Given the description of an element on the screen output the (x, y) to click on. 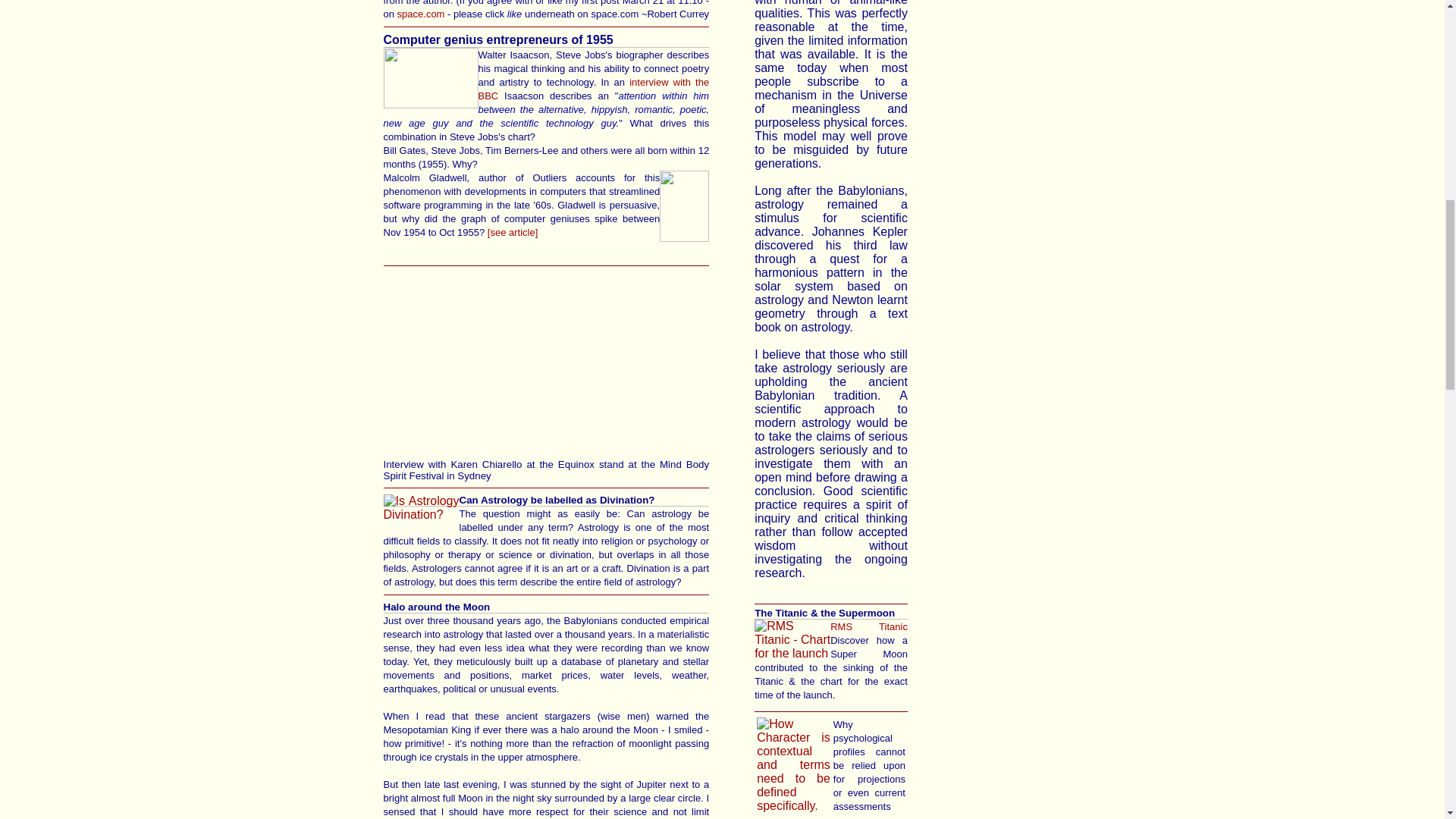
interview with the BBC (593, 88)
RMS Titanic (868, 625)
What is significant about the charts of those born in 1955? (512, 232)
What is significant about the charts of those born in 1955? (547, 46)
space.com (421, 13)
Computer genius entrepreneurs of 1955 (547, 46)
Can Astrology be labelled as Divination? (547, 506)
